Given the description of an element on the screen output the (x, y) to click on. 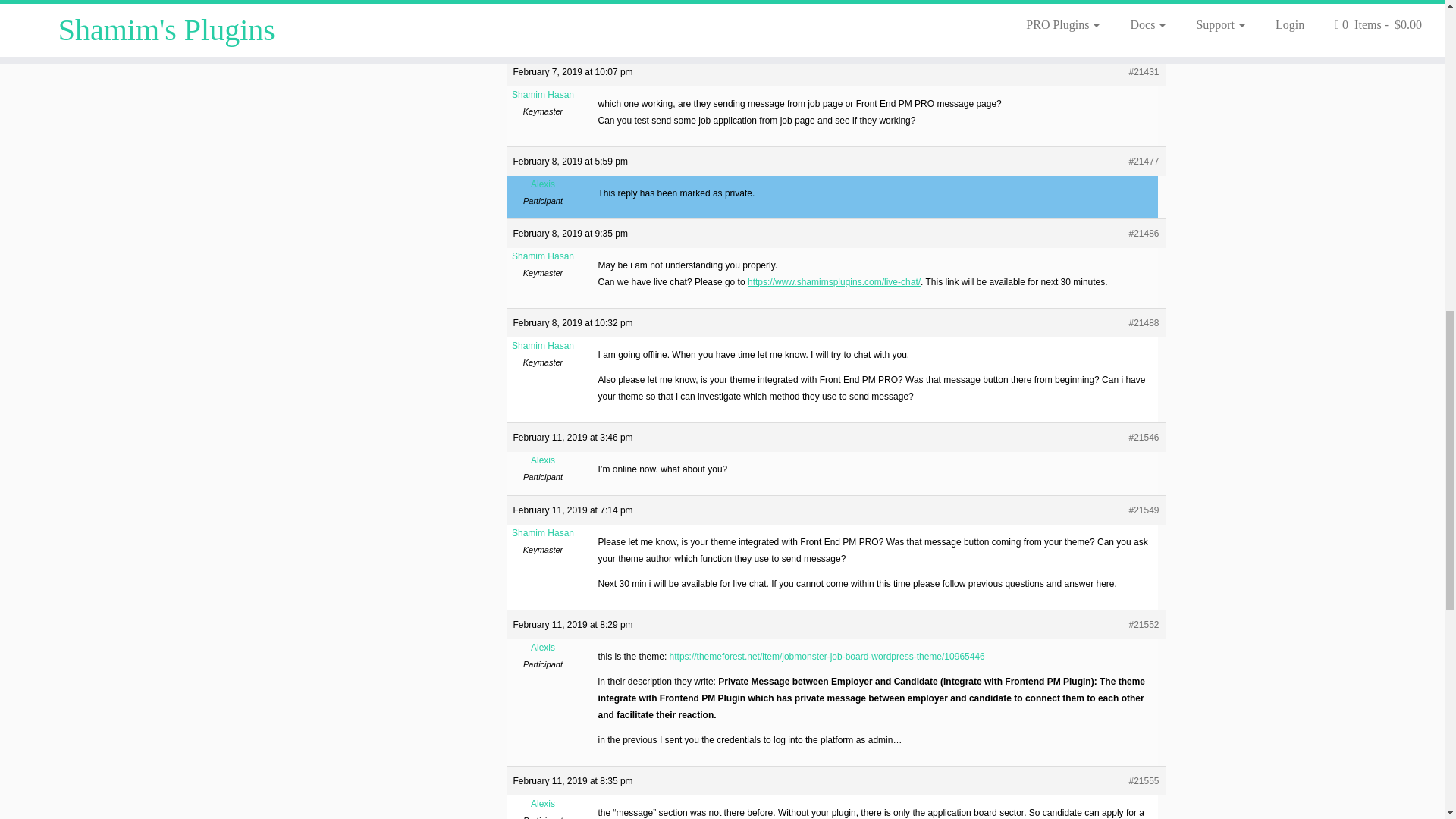
Alexis (542, 21)
View Alexis's profile (542, 803)
View Shamim Hasan's profile (542, 532)
View Shamim Hasan's profile (542, 94)
View Shamim Hasan's profile (542, 256)
Alexis (542, 184)
View Shamim Hasan's profile (542, 345)
Shamim Hasan (542, 94)
Shamim Hasan (542, 256)
View Alexis's profile (542, 460)
